Given the description of an element on the screen output the (x, y) to click on. 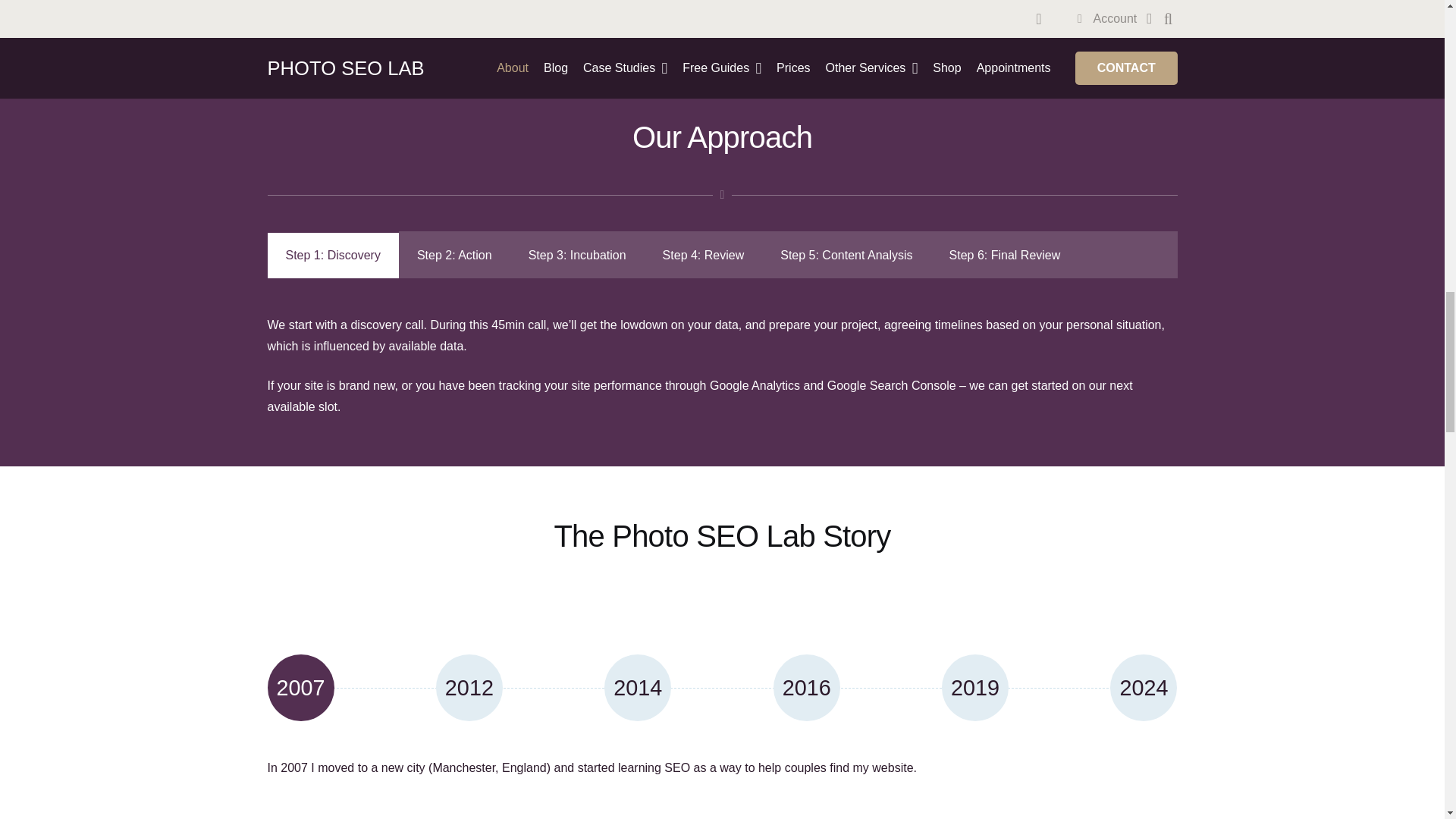
Step 4: Review (703, 254)
Step 2: Action (454, 254)
Step 6: Final Review (1004, 254)
Step 5: Content Analysis (845, 254)
Step 1: Discovery (331, 254)
Step 3: Incubation (578, 254)
